Given the description of an element on the screen output the (x, y) to click on. 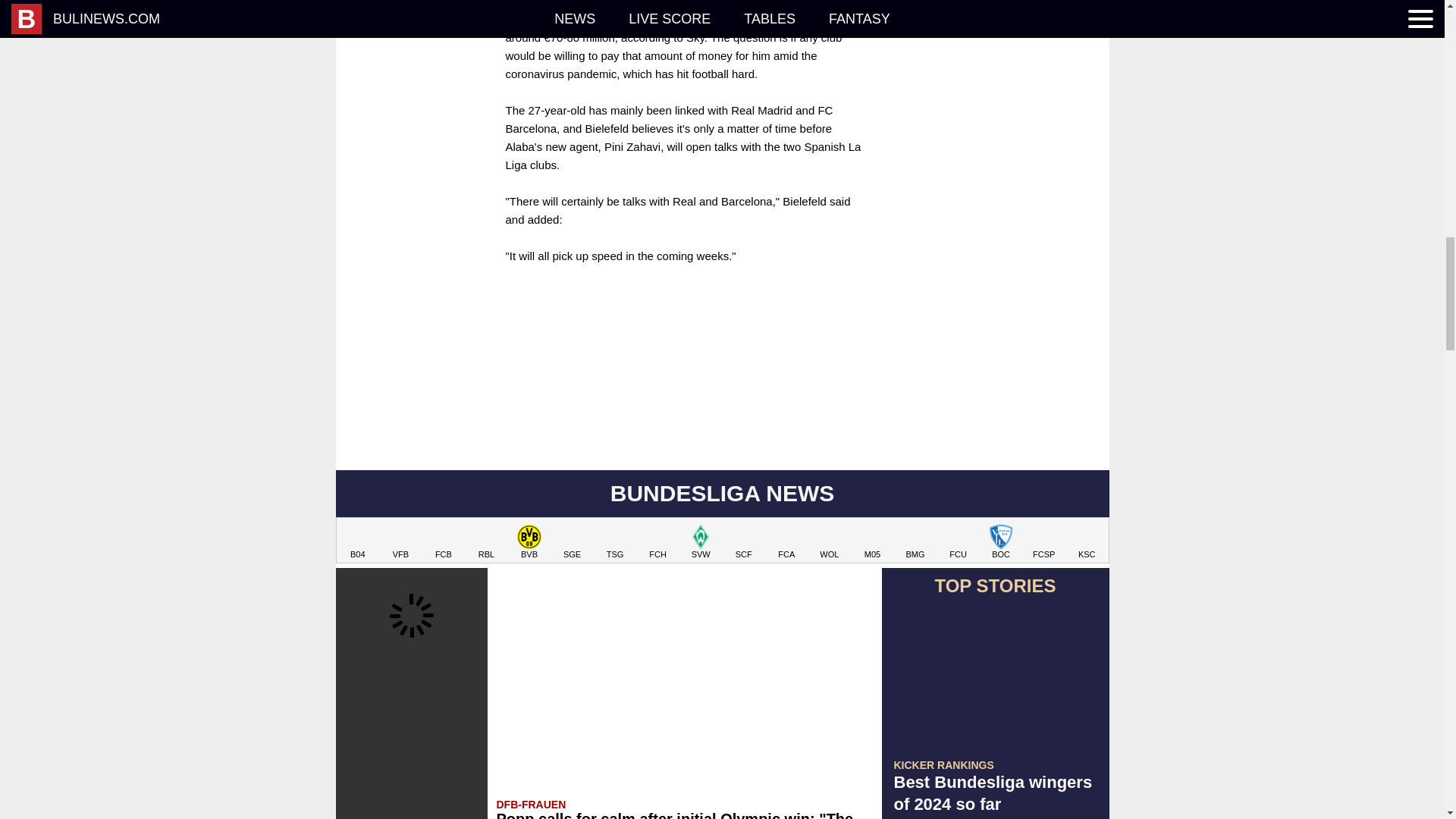
Bayer Leverkusen News (358, 541)
